Given the description of an element on the screen output the (x, y) to click on. 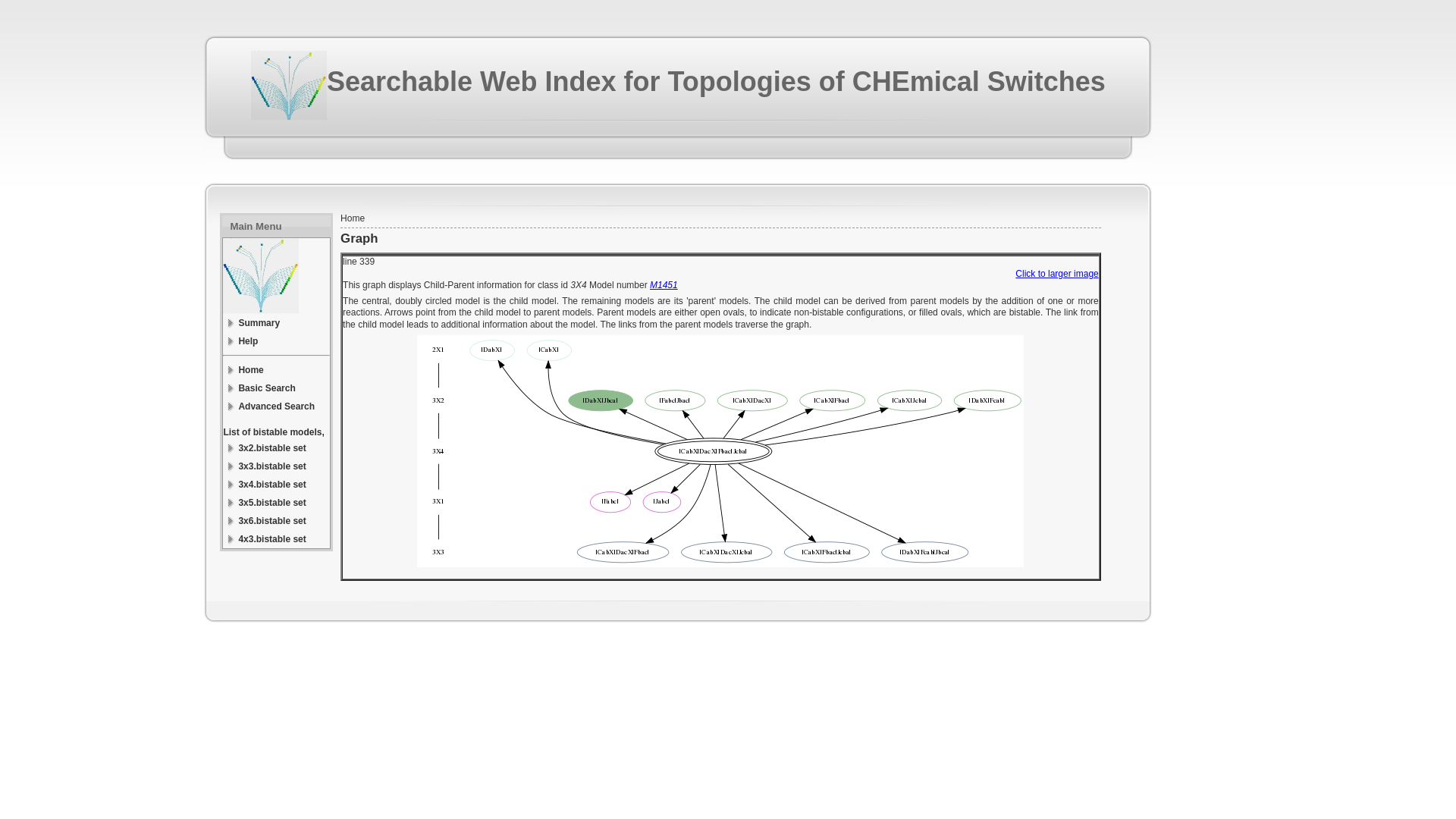
3x5.bistable set (276, 502)
Advanced Search (276, 406)
3x3.bistable set (276, 466)
Click to larger image (1055, 273)
Searchable Web Index for Topologies of CHEmical Switches (715, 81)
4x3.bistable set (276, 538)
3x4.bistable set (276, 484)
Summary (276, 322)
Help (276, 341)
Home (276, 370)
Basic Search (276, 388)
3x2.bistable set (276, 447)
3x6.bistable set (276, 520)
M1451 (663, 285)
